Given the description of an element on the screen output the (x, y) to click on. 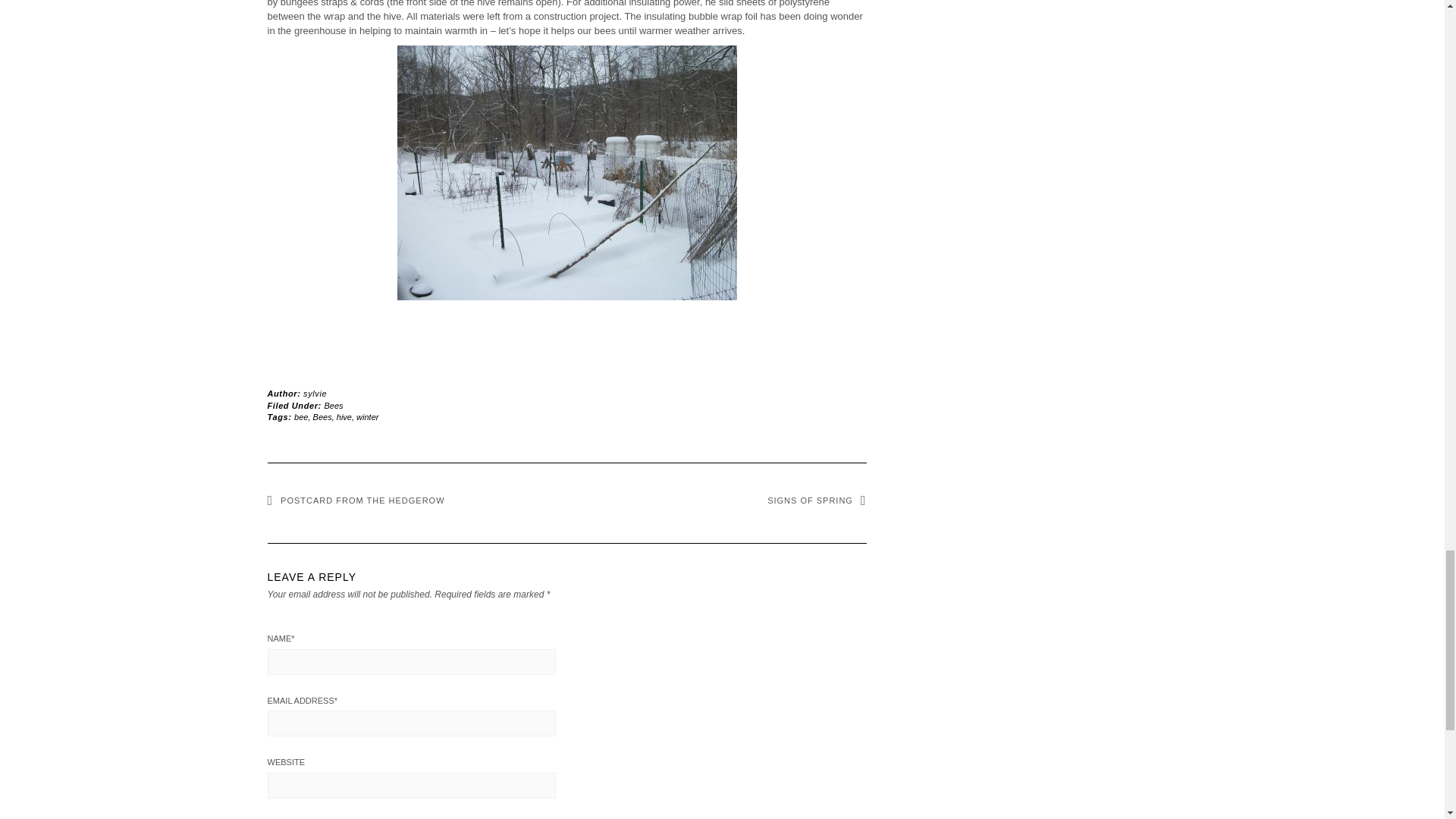
Bees (322, 416)
winter (367, 416)
Posts by sylvie (314, 393)
POSTCARD FROM THE HEDGEROW (355, 500)
hive (344, 416)
SIGNS OF SPRING (816, 500)
bee (300, 416)
Bees (333, 404)
sylvie (314, 393)
